Given the description of an element on the screen output the (x, y) to click on. 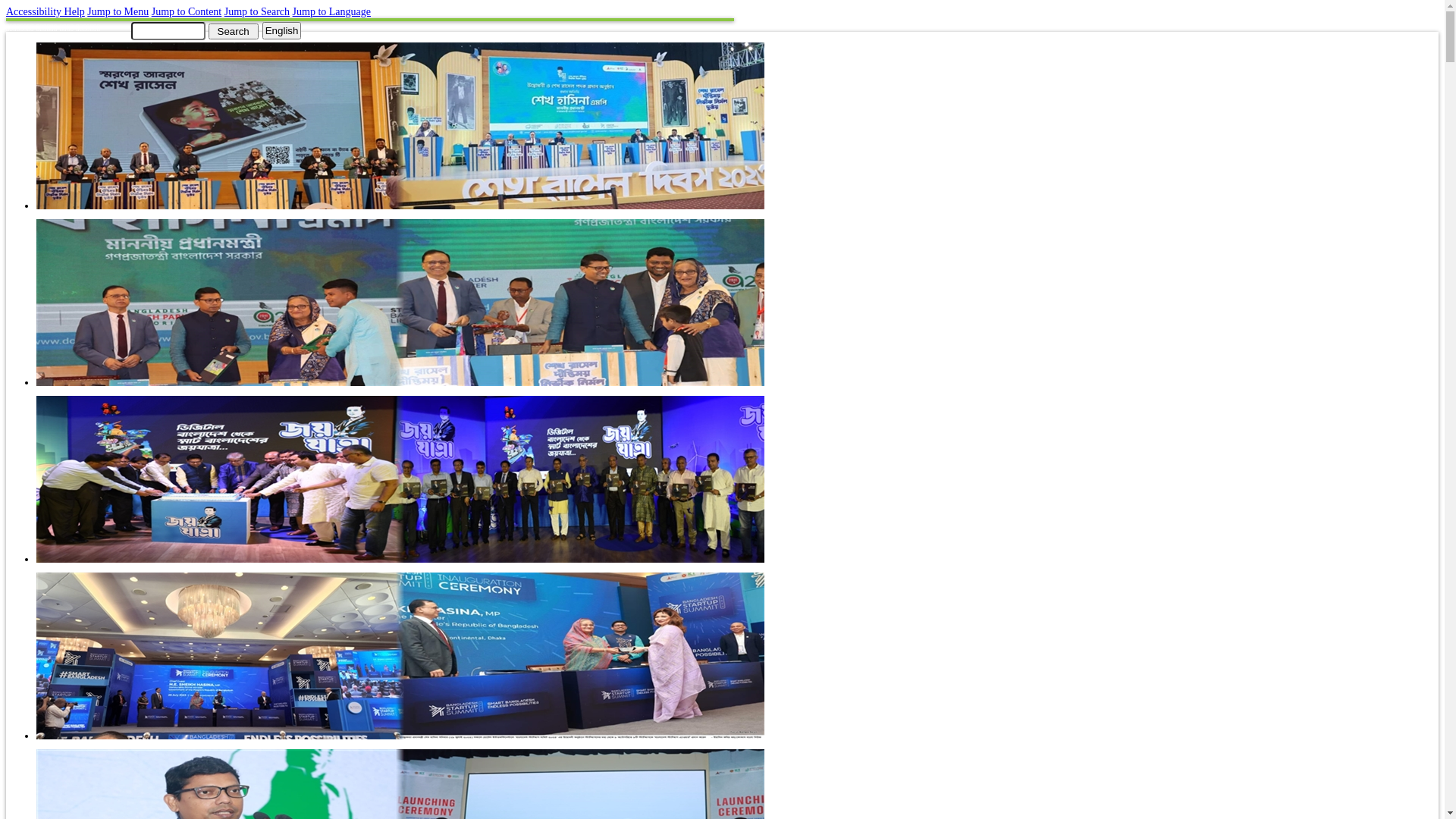
Jump to Menu Element type: text (117, 11)
Jump to Search Element type: text (256, 11)
Search Element type: text (232, 30)
Accessibility Help Element type: text (45, 11)
English Element type: text (281, 30)
Jump to Content Element type: text (186, 11)
Jump to Language Element type: text (331, 11)
